Given the description of an element on the screen output the (x, y) to click on. 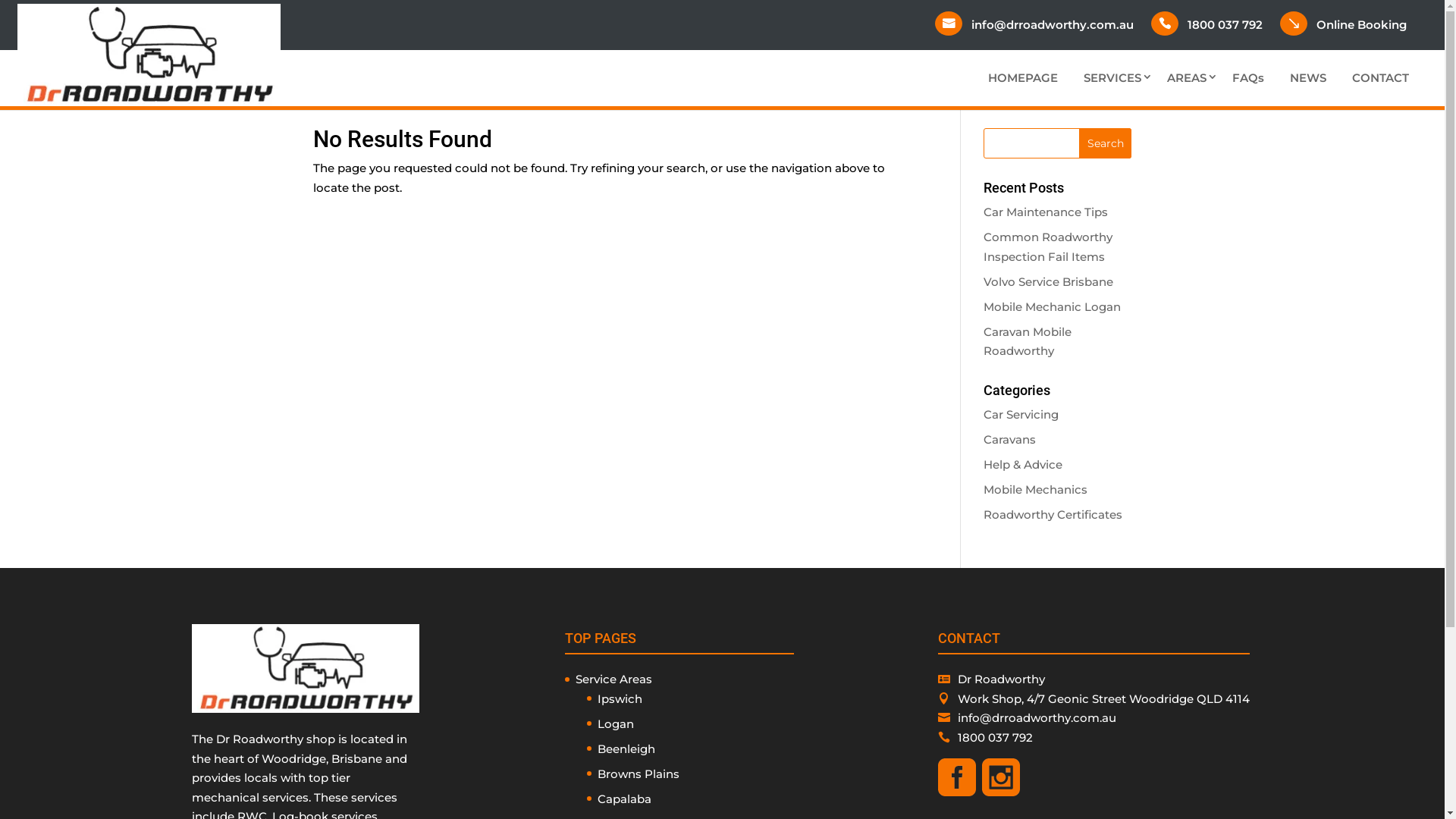
SERVICES Element type: text (1112, 78)
Capalaba Element type: text (624, 798)
NEWS Element type: text (1307, 78)
Mobile Mechanics Element type: text (1035, 489)
Online Booking Element type: text (1365, 24)
Beenleigh Element type: text (626, 748)
Search Element type: text (1105, 143)
Volvo Service Brisbane Element type: text (1048, 281)
Logan Element type: text (615, 722)
1800 037 792 Element type: text (1229, 24)
FAQs Element type: text (1247, 78)
info@drroadworthy.com.au Element type: text (1056, 24)
Browns Plains Element type: text (638, 772)
AREAS Element type: text (1186, 78)
1800 037 792 Element type: text (994, 736)
info@drroadworthy.com.au Element type: text (1036, 717)
Help & Advice Element type: text (1022, 463)
Work Shop, 4/7 Geonic Street Woodridge QLD 4114 Element type: text (1103, 698)
Mobile Mechanic Logan Element type: text (1051, 305)
Caravan Mobile Roadworthy Element type: text (1027, 341)
Roadworthy Certificates Element type: text (1052, 513)
   Element type: text (1004, 791)
Service Areas Element type: text (613, 678)
CONTACT Element type: text (1380, 78)
Common Roadworthy Inspection Fail Items Element type: text (1047, 246)
Ipswich Element type: text (619, 698)
HOMEPAGE Element type: text (1022, 78)
Car Maintenance Tips Element type: text (1045, 211)
Car Servicing Element type: text (1020, 413)
Caravans Element type: text (1009, 439)
